Given the description of an element on the screen output the (x, y) to click on. 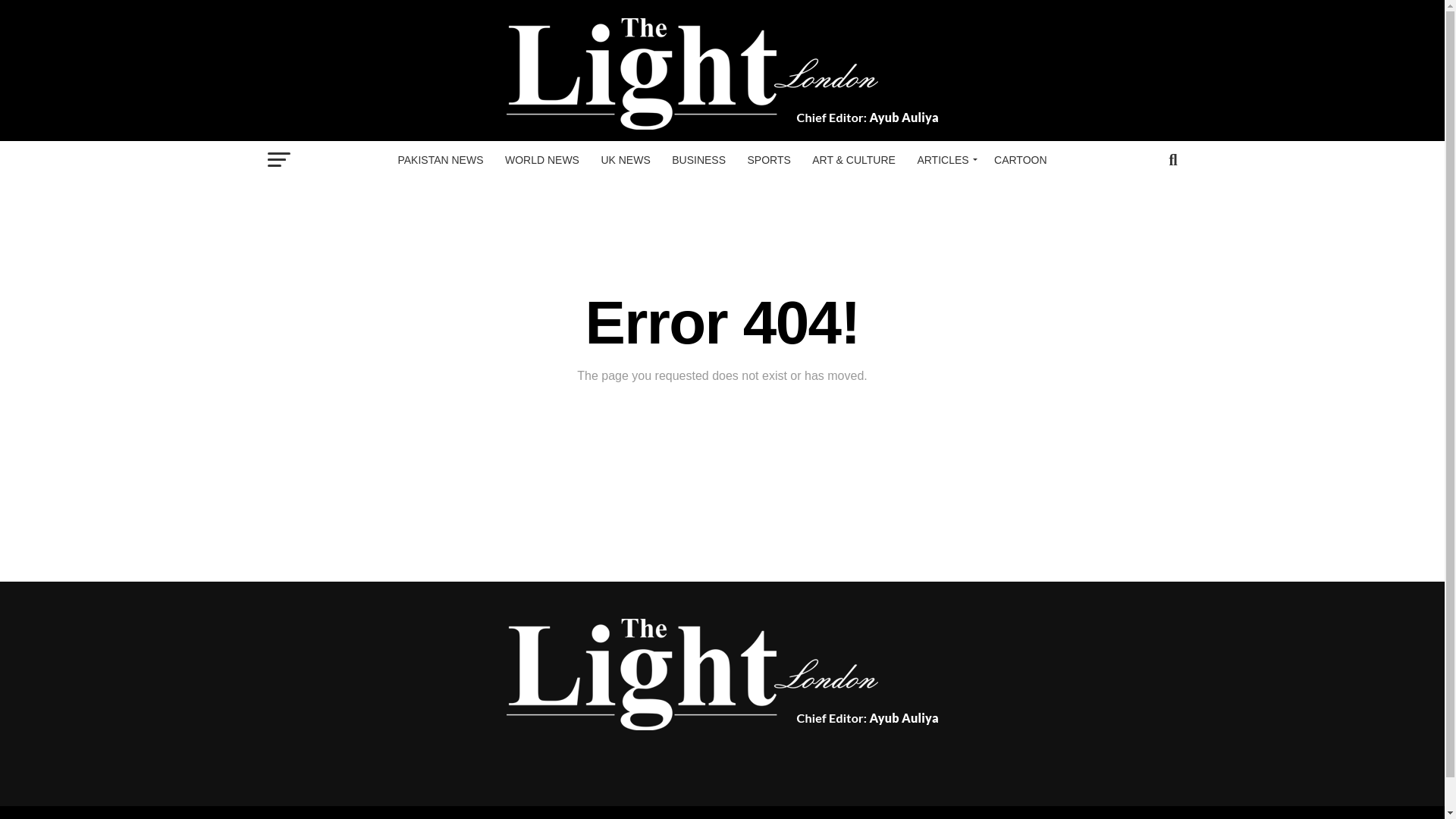
WORLD NEWS (542, 159)
CARTOON (1021, 159)
SPORTS (768, 159)
BUSINESS (698, 159)
PAKISTAN NEWS (440, 159)
UK NEWS (625, 159)
ARTICLES (944, 159)
